Given the description of an element on the screen output the (x, y) to click on. 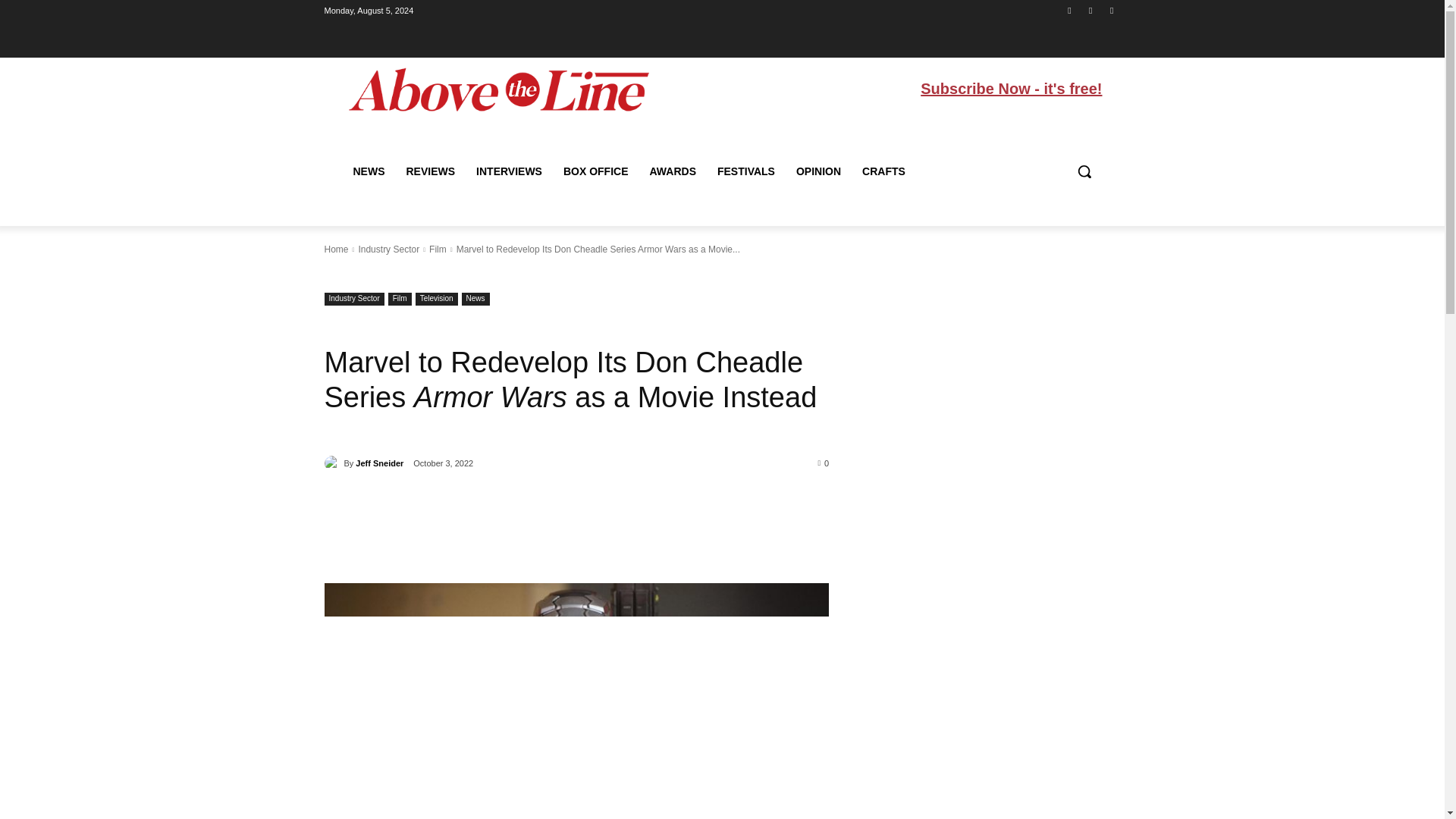
Industry Sector (354, 298)
REVIEWS (430, 171)
Twitter (1112, 9)
Facebook (1069, 9)
Industry Sector (388, 249)
Film (400, 298)
Jeff Sneider (333, 462)
OPINION (818, 171)
View all posts in Film (437, 249)
Instagram (1090, 9)
INTERVIEWS (509, 171)
FESTIVALS (746, 171)
NEWS (369, 171)
Home (336, 249)
News (475, 298)
